Given the description of an element on the screen output the (x, y) to click on. 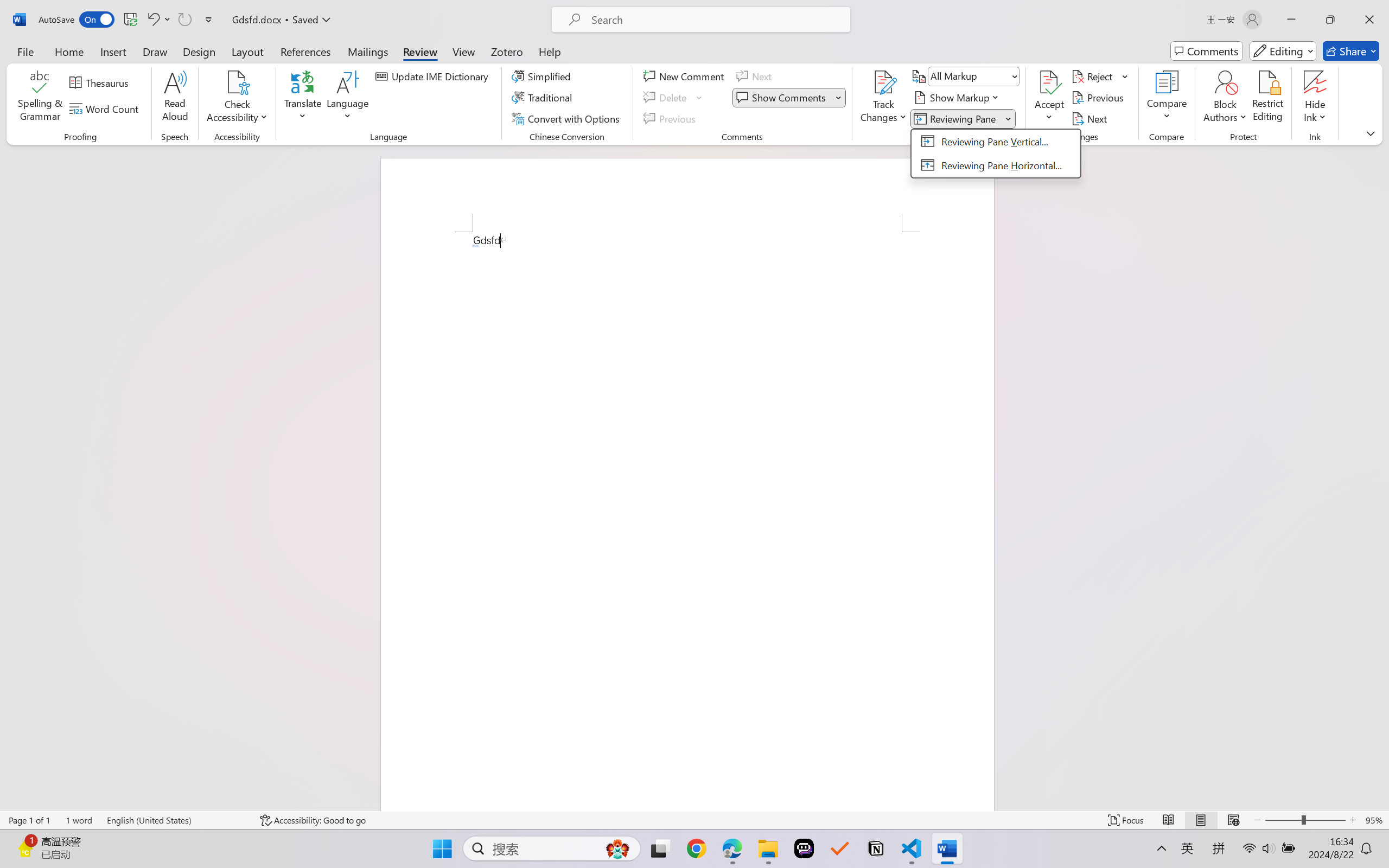
Microsoft search (715, 19)
Hide Ink (1315, 81)
Reject and Move to Next (1093, 75)
Reviewing Pane (955, 118)
Poe (804, 848)
Thesaurus... (101, 82)
Previous (1099, 97)
Accept and Move to Next (1049, 81)
Hide Ink (1315, 97)
